Given the description of an element on the screen output the (x, y) to click on. 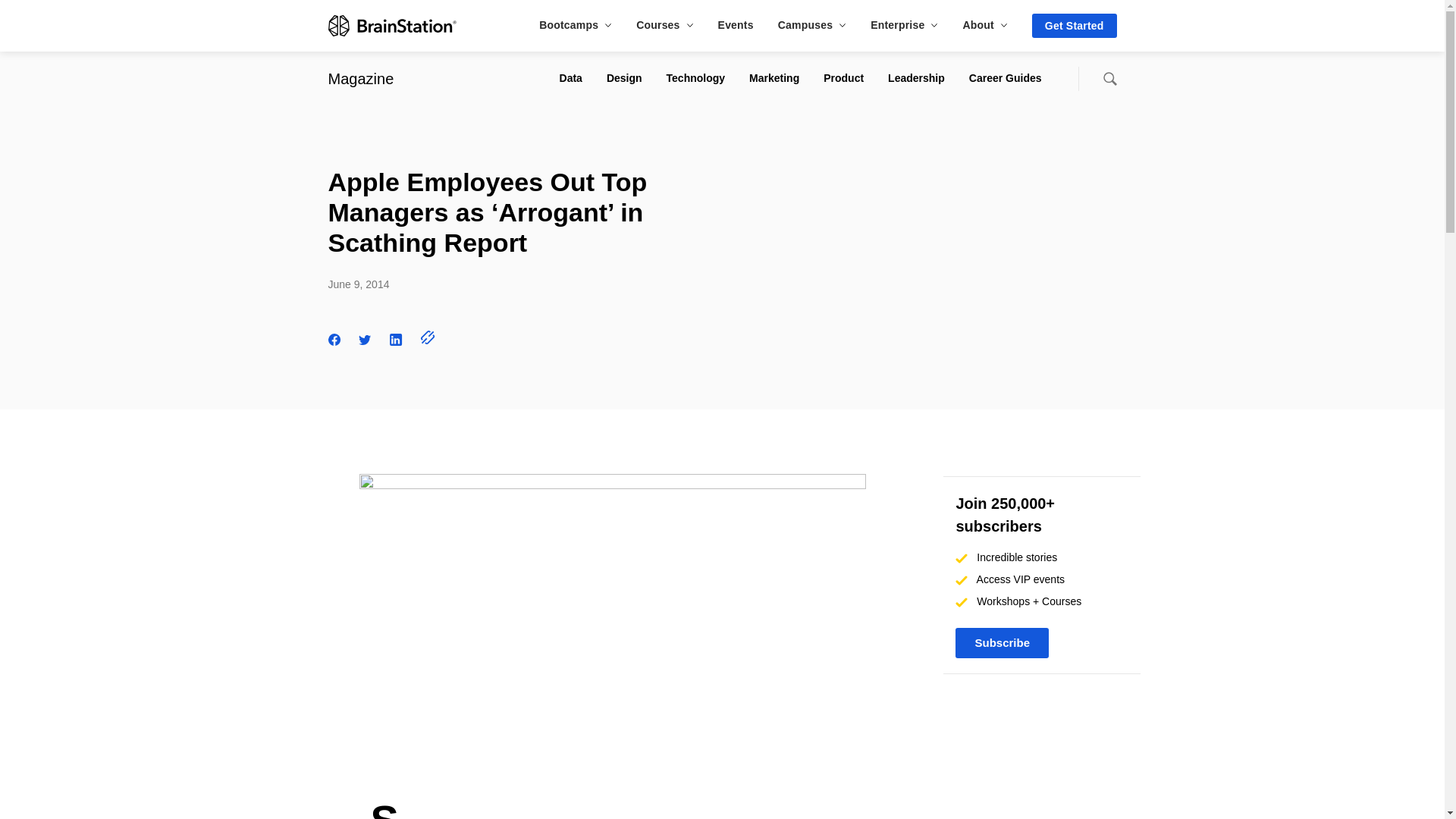
Campuses (811, 24)
Bootcamps (574, 24)
Events (735, 24)
About (984, 24)
Search (1109, 78)
Courses (664, 24)
BrainStation Magazine (360, 78)
Enterprise (903, 24)
